Given the description of an element on the screen output the (x, y) to click on. 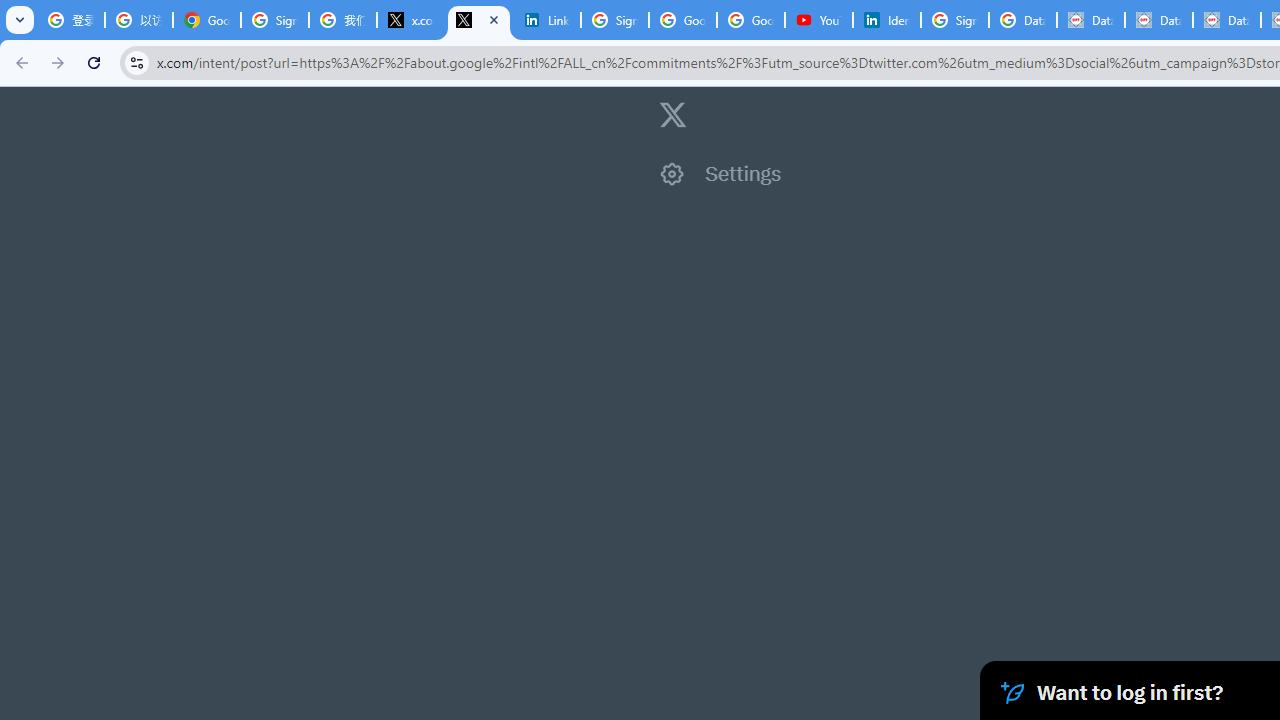
LinkedIn Privacy Policy (547, 20)
Data Privacy Framework (1091, 20)
Identity verification via Persona | LinkedIn Help (886, 20)
Data Privacy Framework (1158, 20)
